Given the description of an element on the screen output the (x, y) to click on. 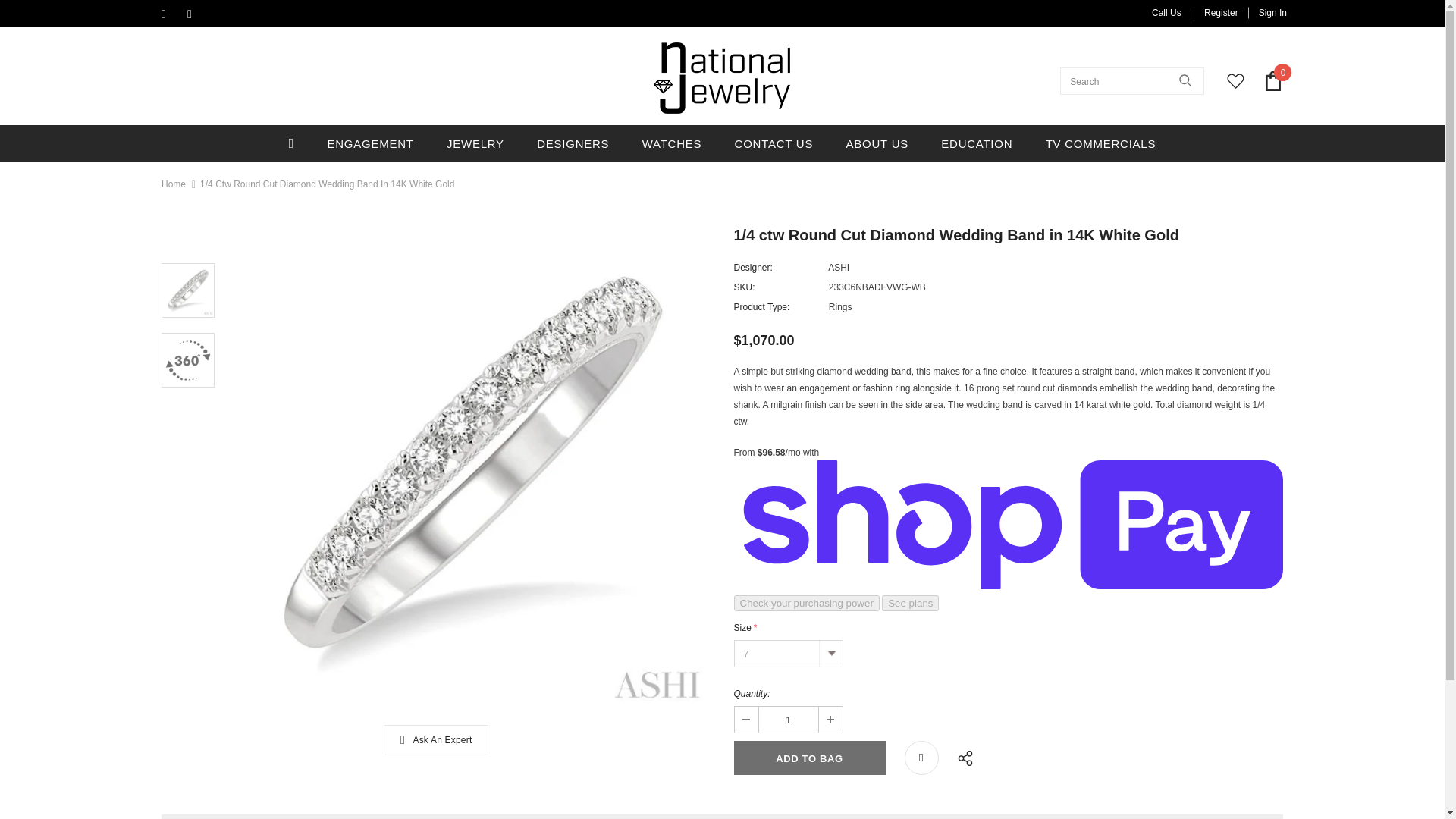
Add to Bag (809, 757)
1 (787, 719)
Register (1221, 12)
Sign In (1267, 12)
